Given the description of an element on the screen output the (x, y) to click on. 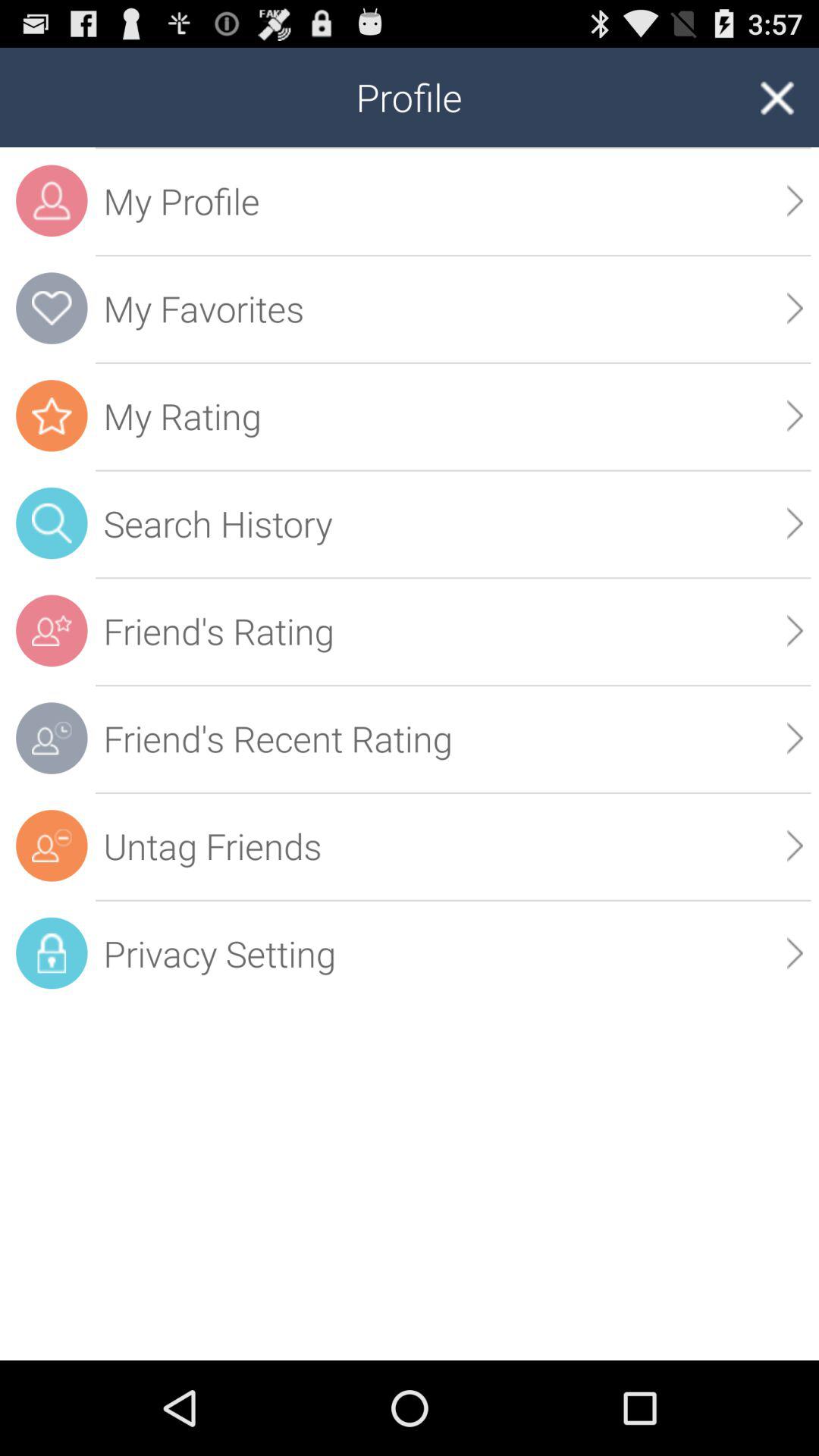
launch app above the untag friends (795, 738)
